Given the description of an element on the screen output the (x, y) to click on. 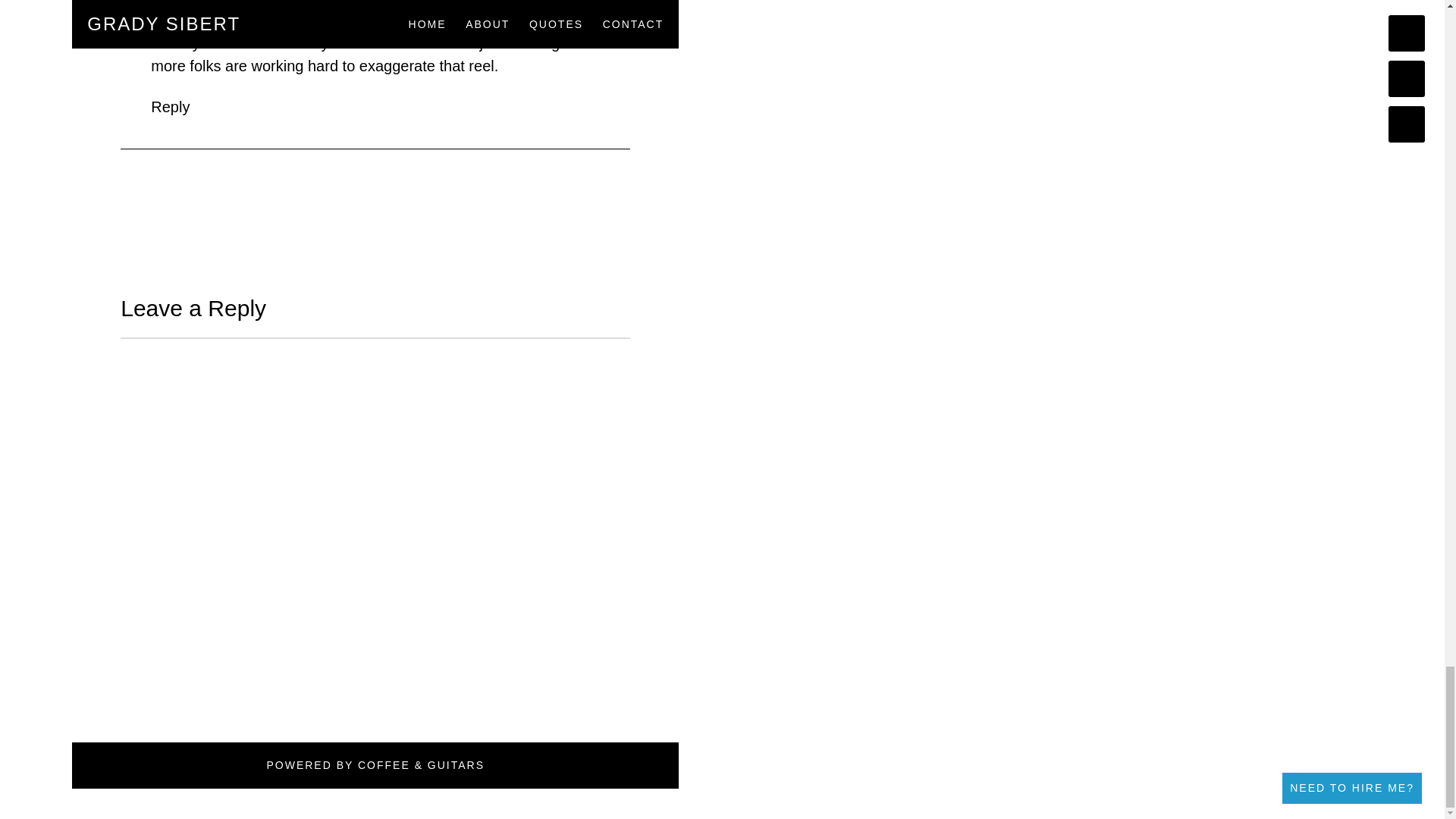
Reply (170, 106)
December 20, 2013 at 10:36 am (299, 6)
